Given the description of an element on the screen output the (x, y) to click on. 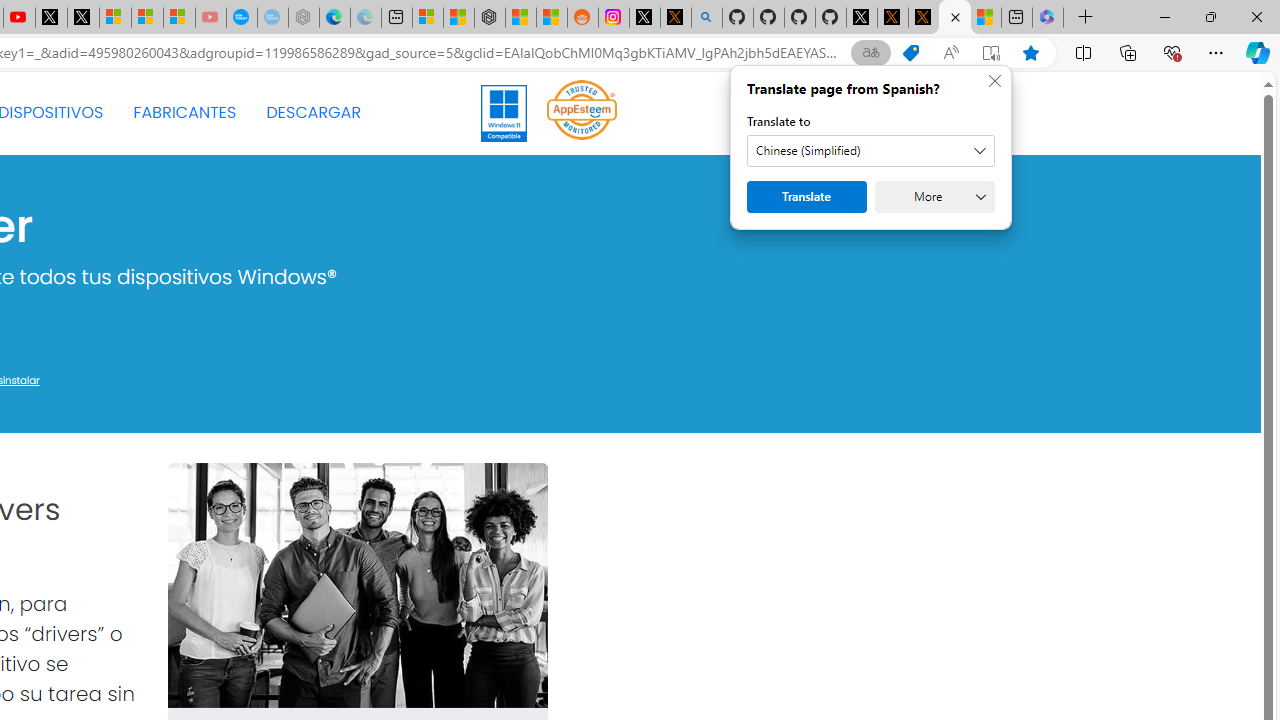
X Privacy Policy (923, 17)
help.x.com | 524: A timeout occurred (675, 17)
FABRICANTES (184, 112)
Profile / X (861, 17)
Windows 11 (504, 112)
Log in to X / X (644, 17)
DESCARGAR (313, 112)
FABRICANTES (184, 112)
